Given the description of an element on the screen output the (x, y) to click on. 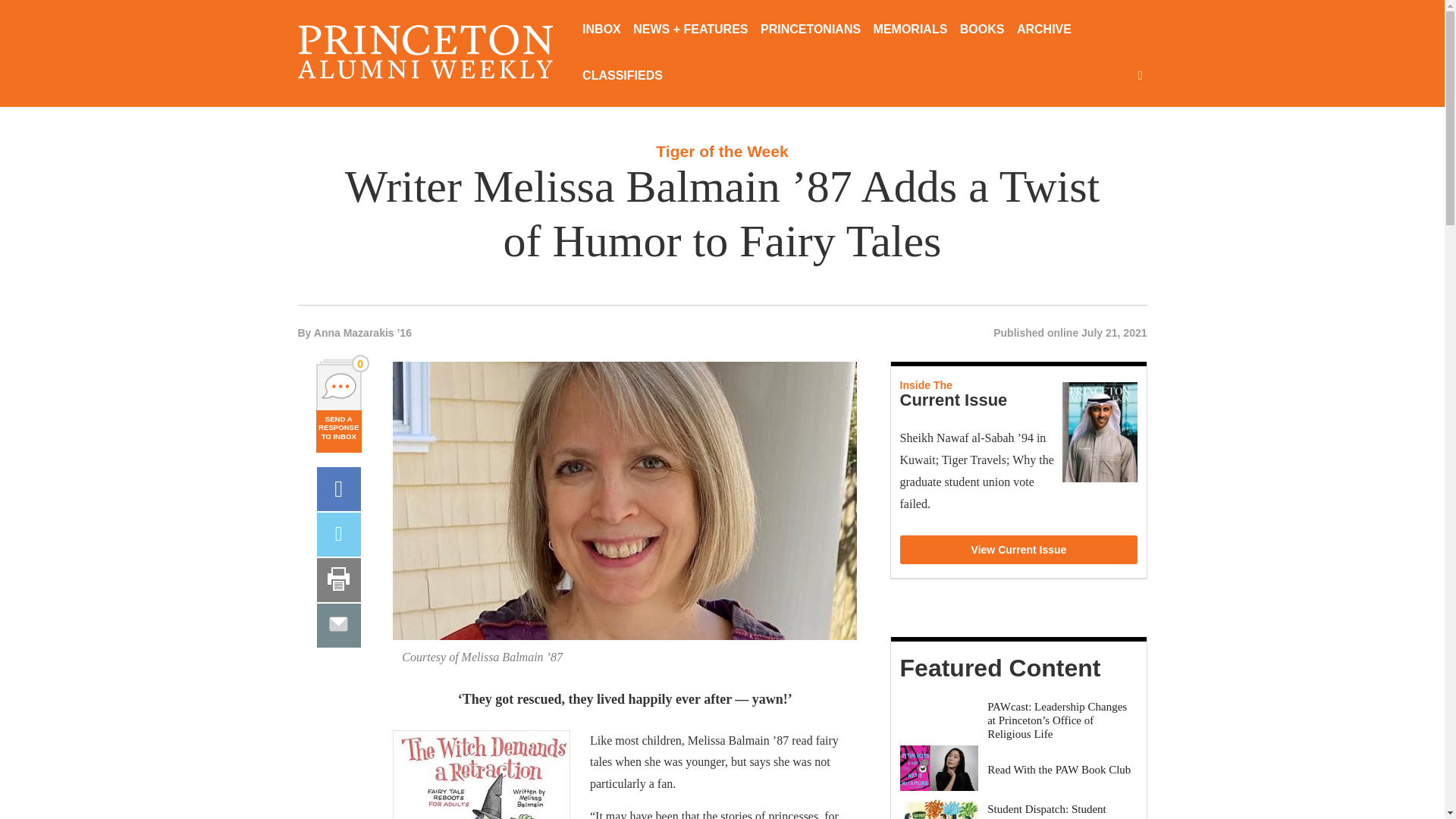
SEND A RESPONSE TO INBOX (338, 431)
BOOKS (982, 30)
INBOX (602, 30)
PRINCETONIANS (809, 30)
MEMORIALS (910, 30)
ARCHIVE (1043, 30)
CLASSIFIEDS (622, 76)
